Given the description of an element on the screen output the (x, y) to click on. 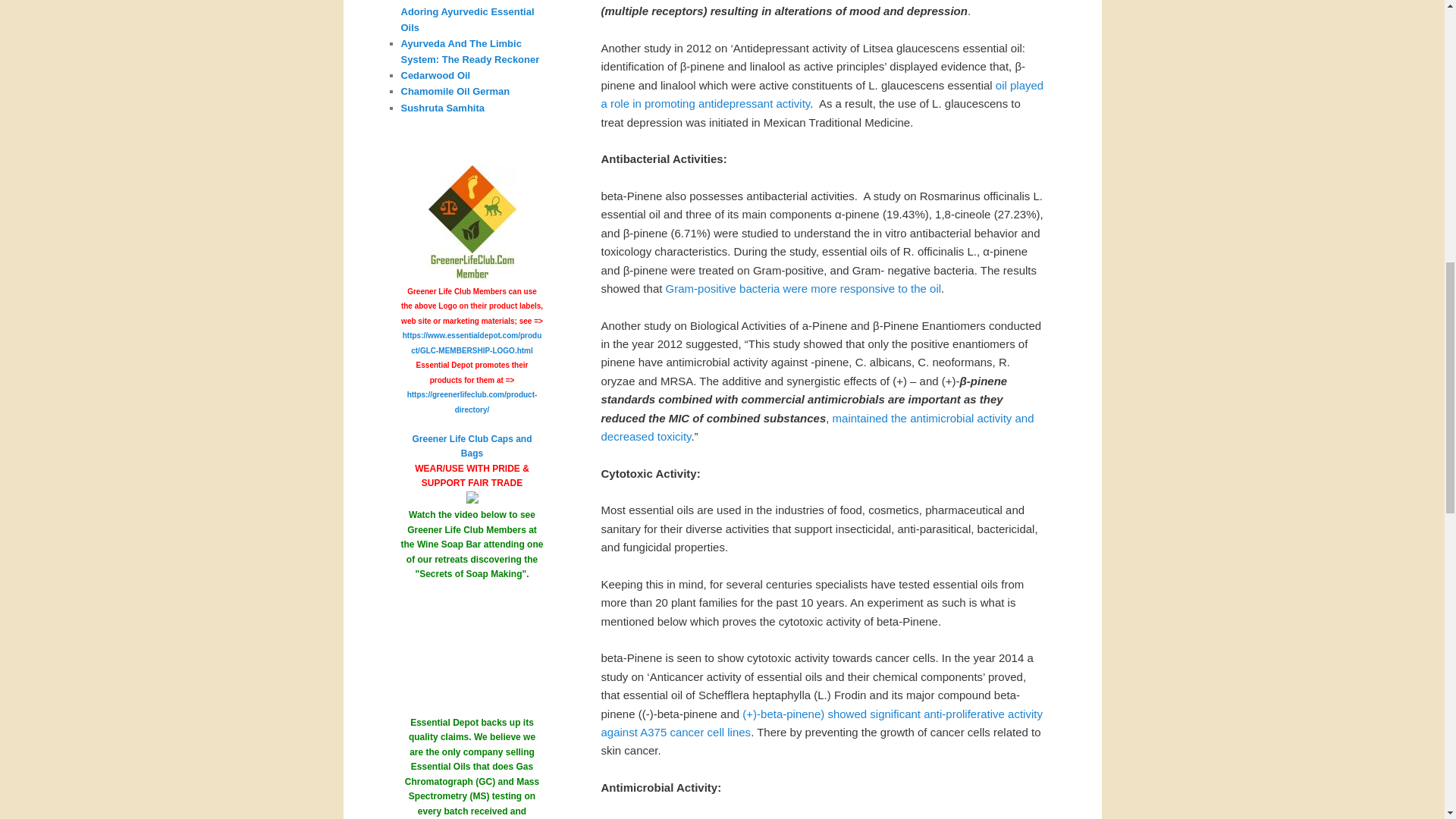
Gram-positive bacteria were more responsive to the oil (803, 287)
oil played a role in promoting antidepressant activity (821, 93)
maintained the antimicrobial activity and decreased toxicity (816, 426)
